Given the description of an element on the screen output the (x, y) to click on. 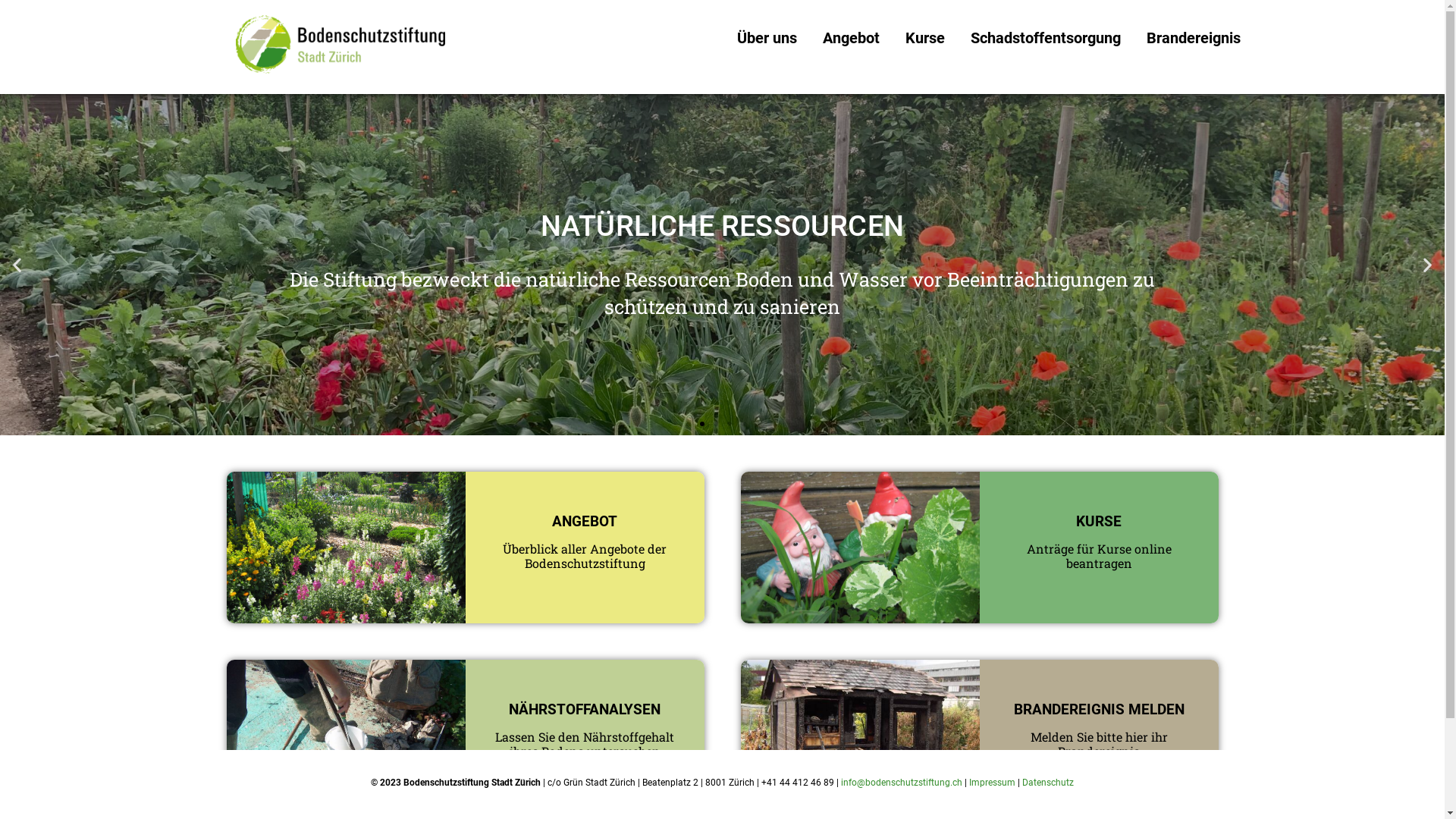
Brandereignis Element type: text (1192, 37)
Schadstoffentsorgung Element type: text (1044, 37)
info@bodenschutzstiftung.ch Element type: text (901, 782)
BRANDEREIGNIS MELDEN
Melden Sie bitte hier ihr Brandereignis Element type: text (978, 735)
Angebot Element type: text (850, 37)
Kurse Element type: text (924, 37)
Datenschutz Element type: text (1047, 782)
Impressum Element type: text (992, 782)
